Given the description of an element on the screen output the (x, y) to click on. 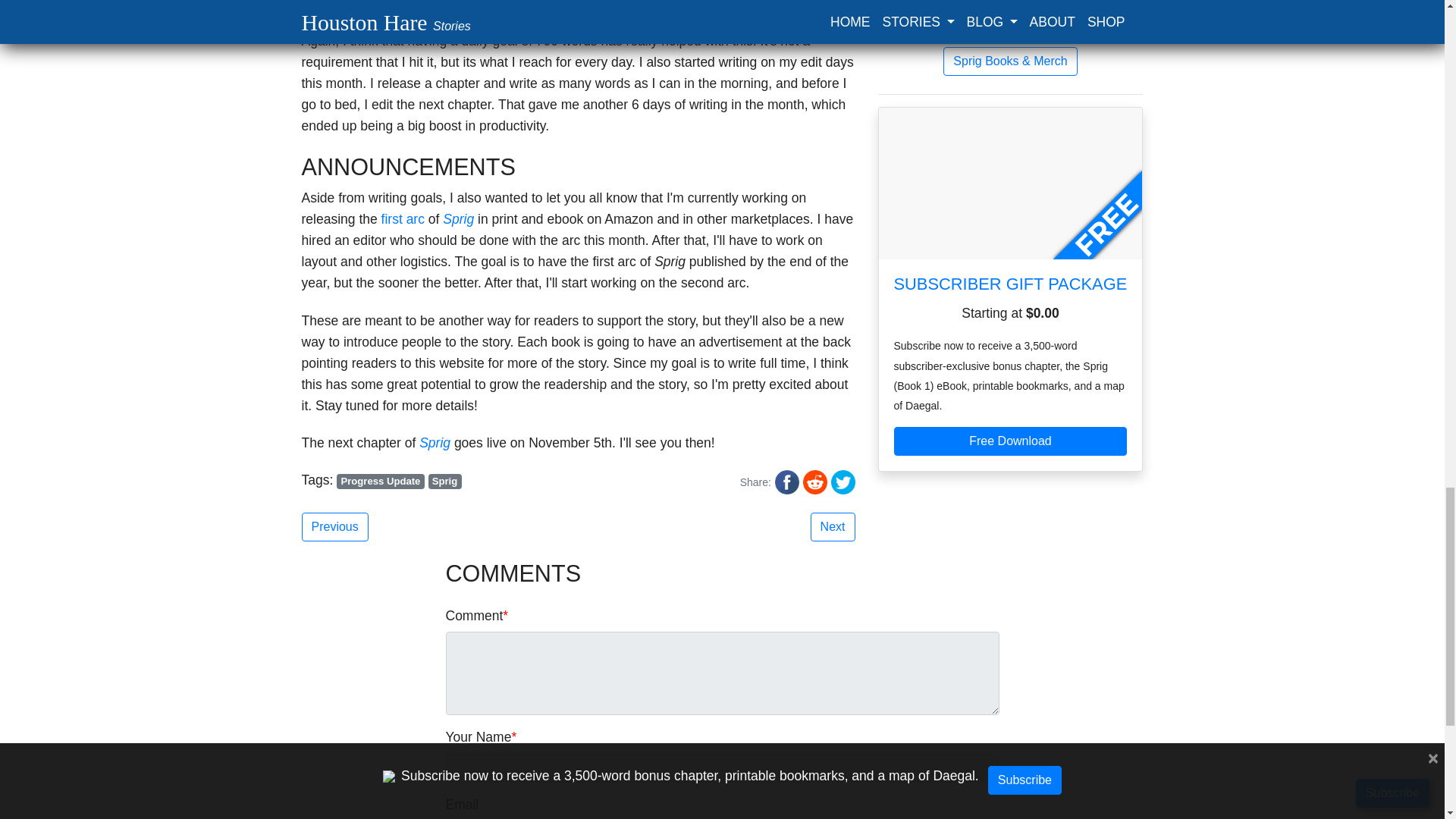
Sprig (458, 218)
first arc (403, 218)
Sprig (434, 442)
